Given the description of an element on the screen output the (x, y) to click on. 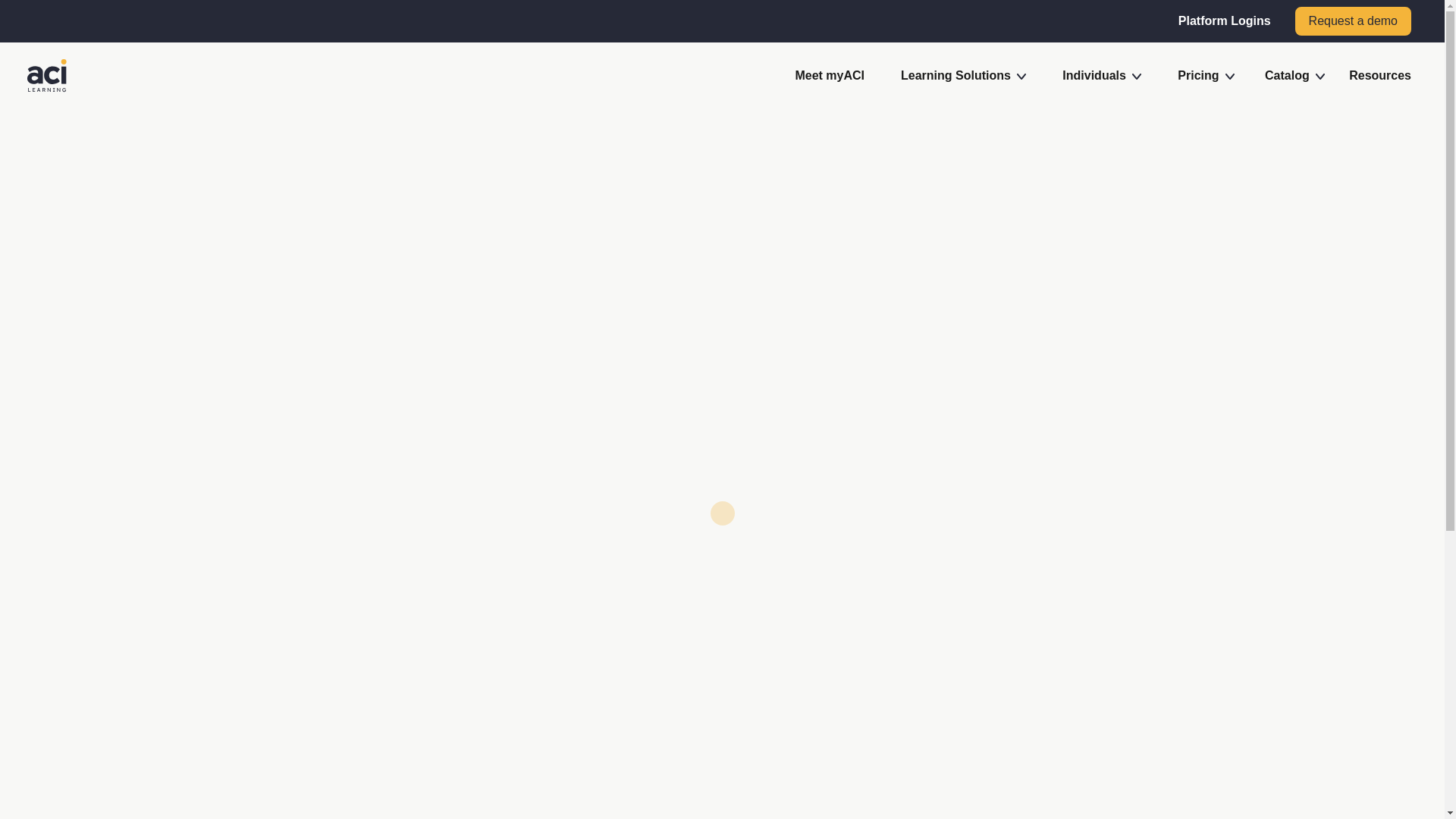
Catalog (26, 472)
Resources (1379, 75)
Show transcript (553, 649)
Purchase a plan (1042, 502)
Meet myACI (829, 75)
Platform Logins (1224, 20)
Request a demo (1352, 21)
Connect with us (1291, 511)
Learning Solutions (963, 75)
